Given the description of an element on the screen output the (x, y) to click on. 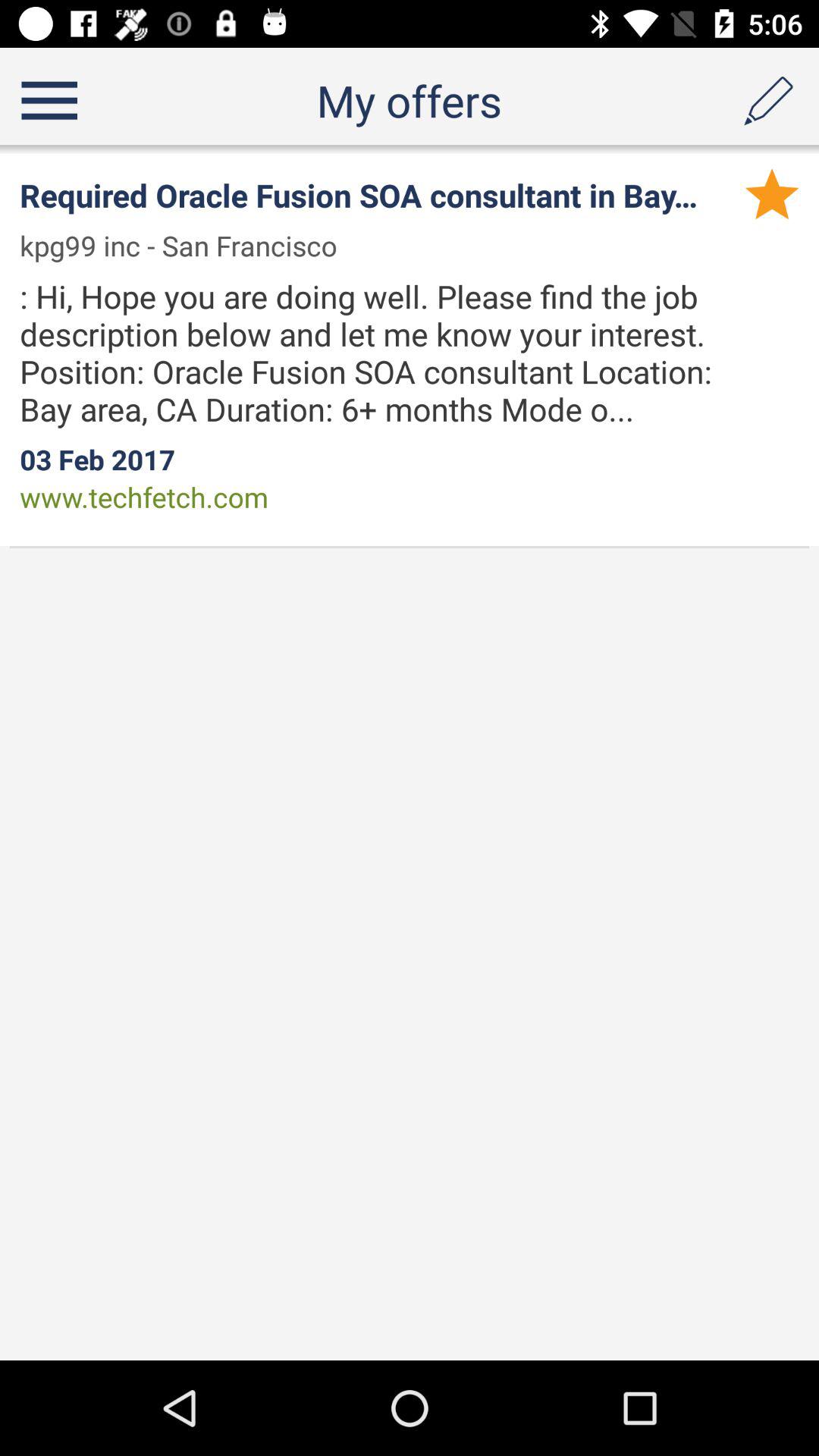
select app next to the w item (188, 245)
